Given the description of an element on the screen output the (x, y) to click on. 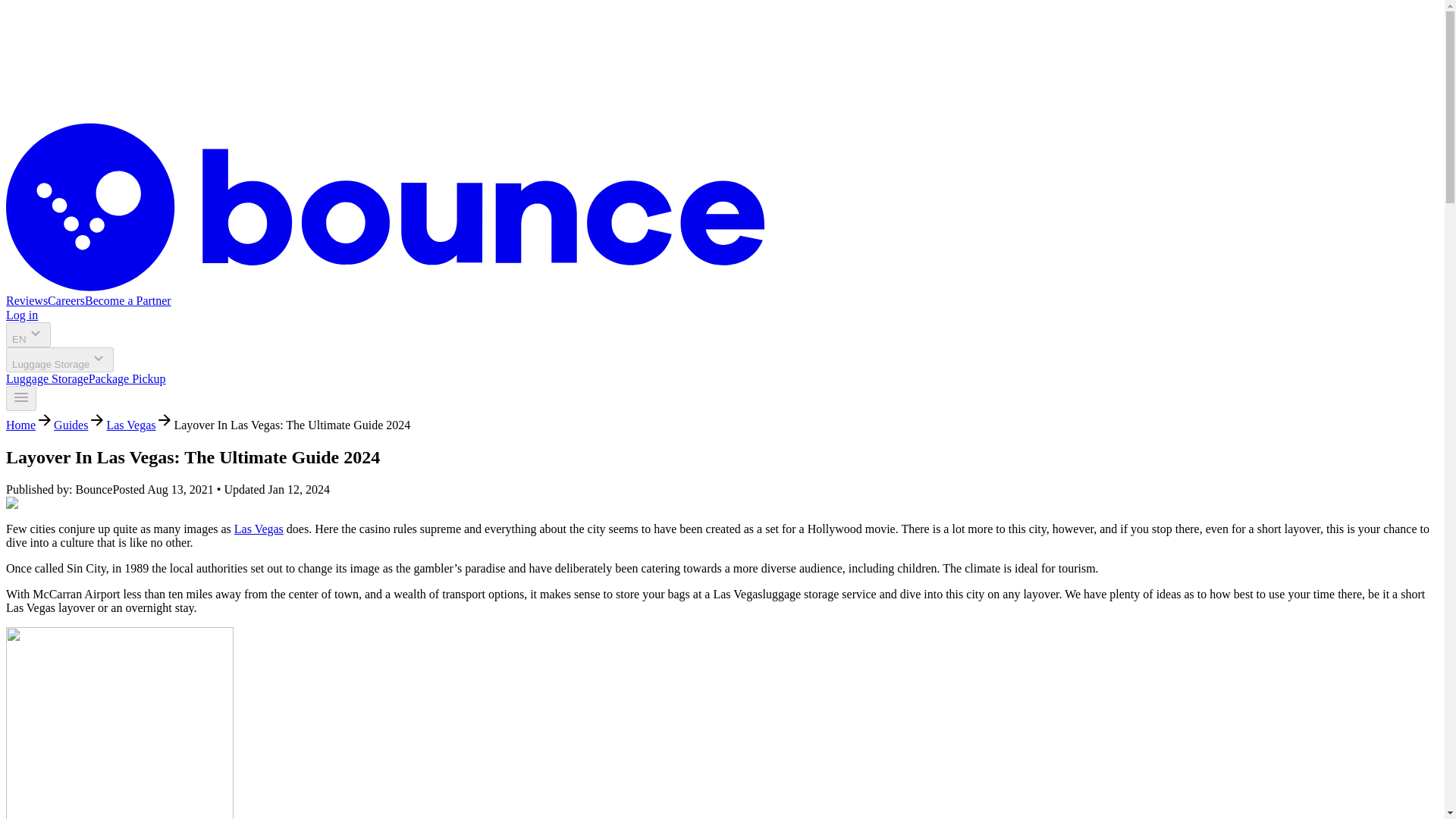
Las Vegas (258, 528)
Become a Partner (127, 300)
Home (19, 424)
Las Vegas (130, 424)
Careers (66, 300)
Reviews (26, 300)
Luggage Storage (59, 359)
EN (27, 334)
Bounce (384, 286)
Guides (70, 424)
Log in (21, 314)
Luggage Storage (46, 378)
Package Pickup (126, 378)
